Given the description of an element on the screen output the (x, y) to click on. 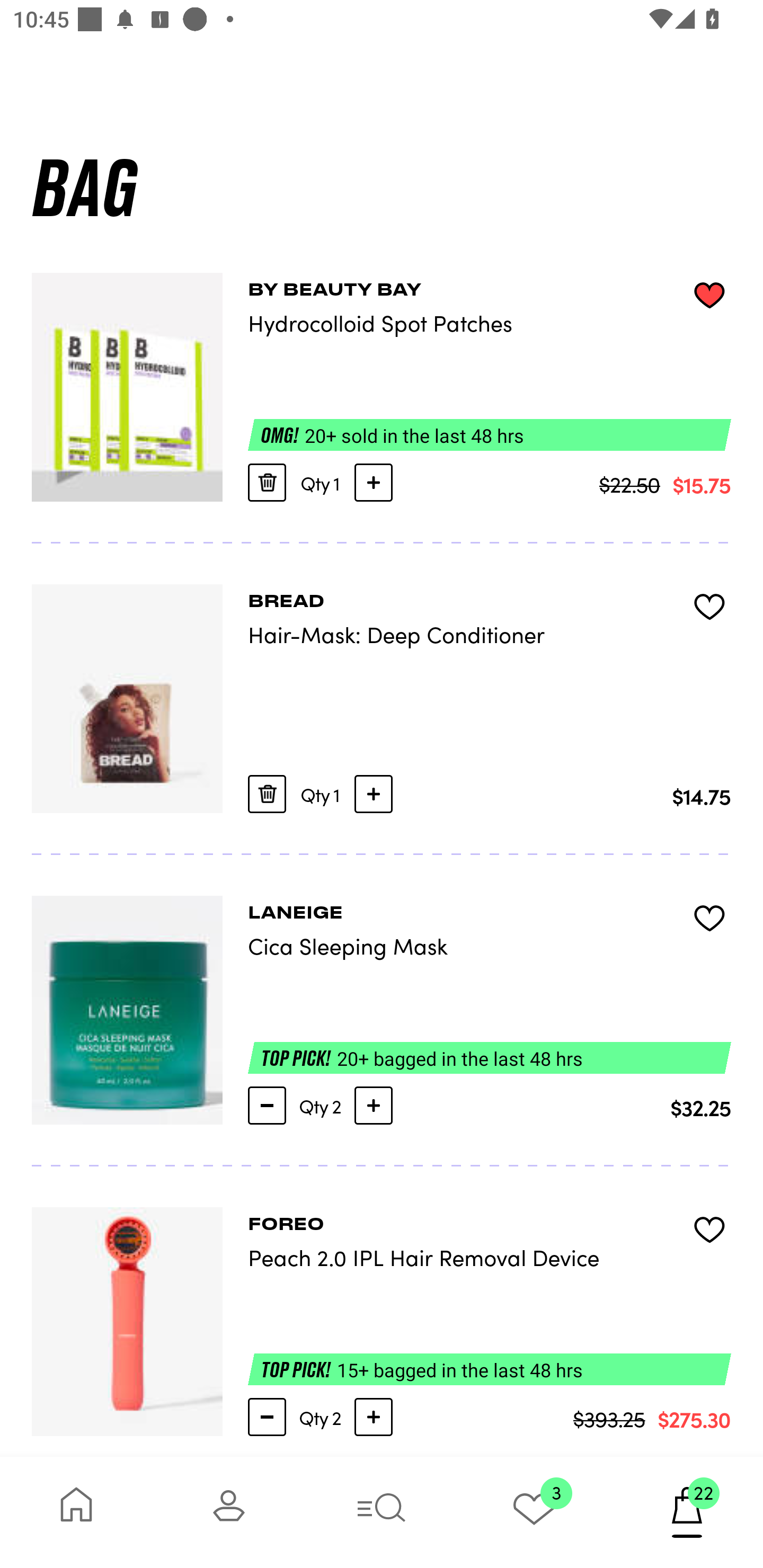
BREAD Hair-Mask: Deep Conditioner Qty 1 $14.75 (381, 699)
3 (533, 1512)
22 (686, 1512)
